Given the description of an element on the screen output the (x, y) to click on. 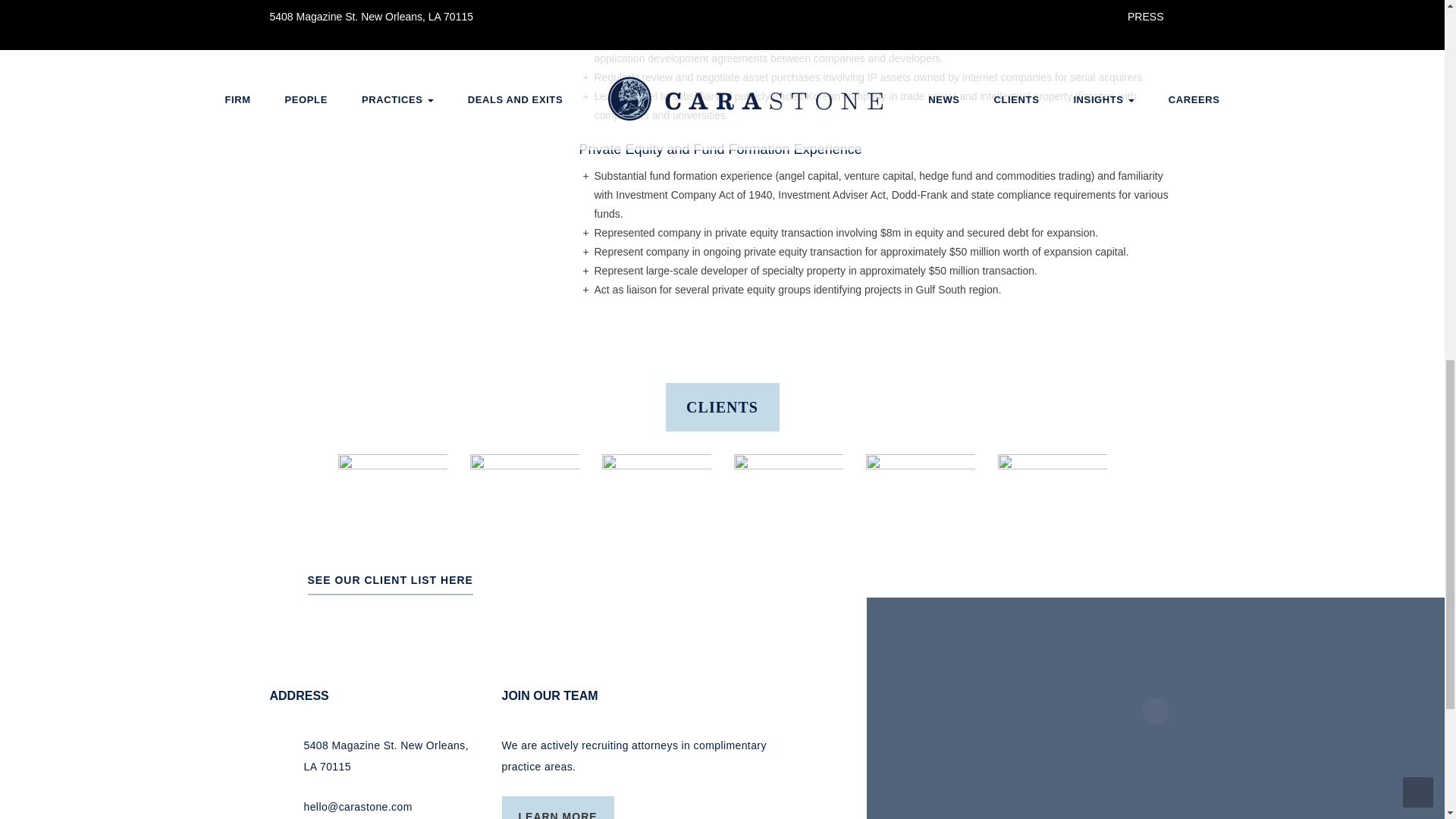
LEARN MORE (558, 807)
CLIENTS (722, 407)
SEE OUR CLIENT LIST HERE (390, 584)
